Given the description of an element on the screen output the (x, y) to click on. 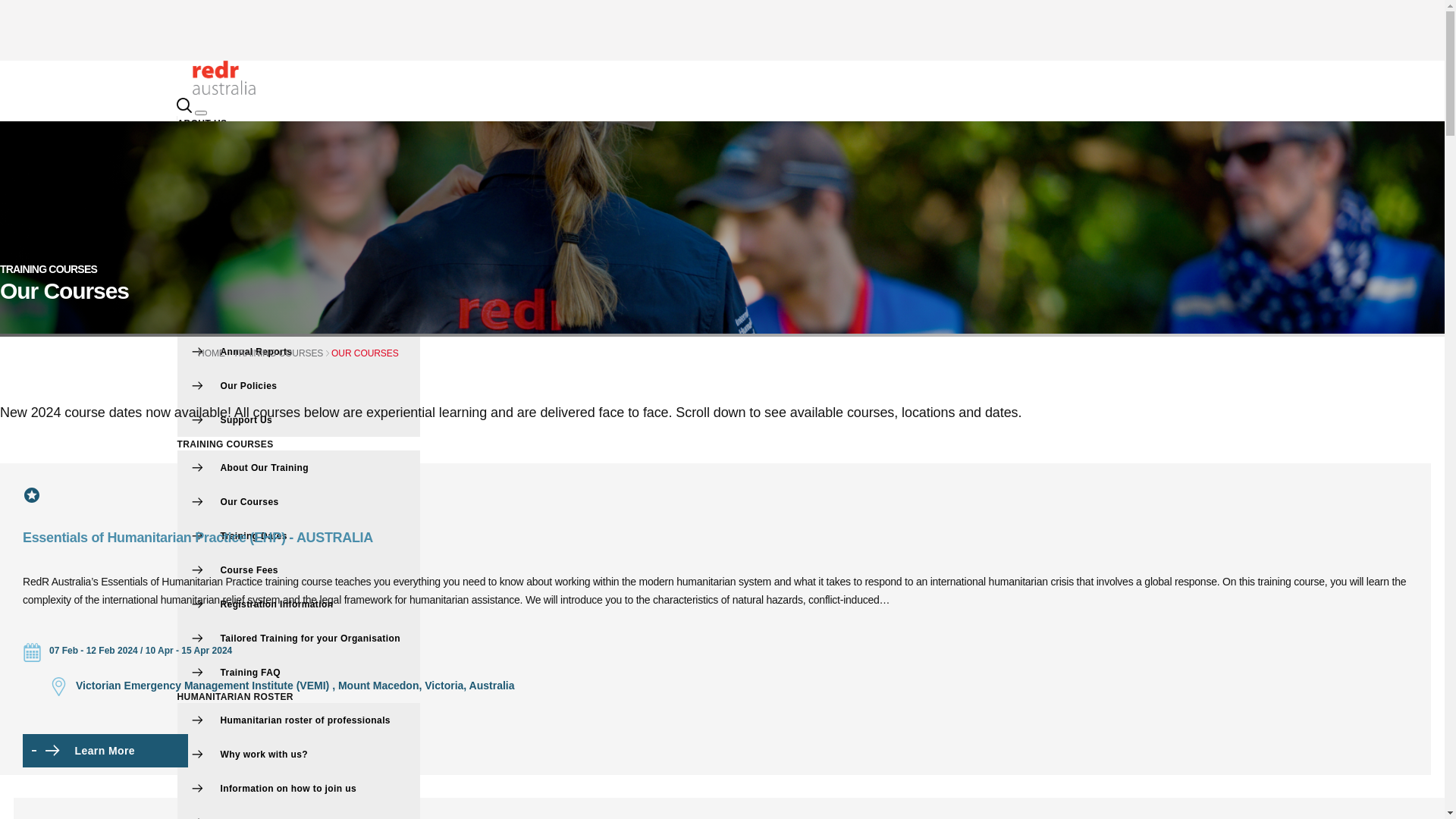
HUMANITARIAN ROSTER Element type: text (235, 696)
Humanitarian roster of professionals Element type: text (298, 719)
Training FAQ Element type: text (298, 672)
Registration Information Element type: text (298, 603)
TRAINING COURSES Element type: text (225, 444)
Our Policies Element type: text (298, 385)
TRAINING COURSES Element type: text (277, 353)
Why work with us? Element type: text (298, 754)
RedR Federation Element type: text (298, 317)
  Learn More Element type: text (76, 750)
ABOUT US Element type: text (202, 123)
Tailored Training for your Organisation Element type: text (298, 638)
HOME Element type: text (211, 353)
Course Fees Element type: text (298, 569)
Support Us Element type: text (298, 419)
  Learn More Element type: text (90, 750)
Who We Are Element type: text (298, 146)
Training Dates Element type: text (298, 535)
Careers Element type: text (298, 249)
Board & Governance Element type: text (298, 214)
OUR COURSES Element type: text (364, 353)
Where We Work Element type: text (298, 180)
Annual Reports Element type: text (298, 351)
Information on how to join us Element type: text (298, 788)
Our Funding Element type: text (298, 283)
About Our Training Element type: text (298, 467)
Our Courses Element type: text (298, 501)
